Given the description of an element on the screen output the (x, y) to click on. 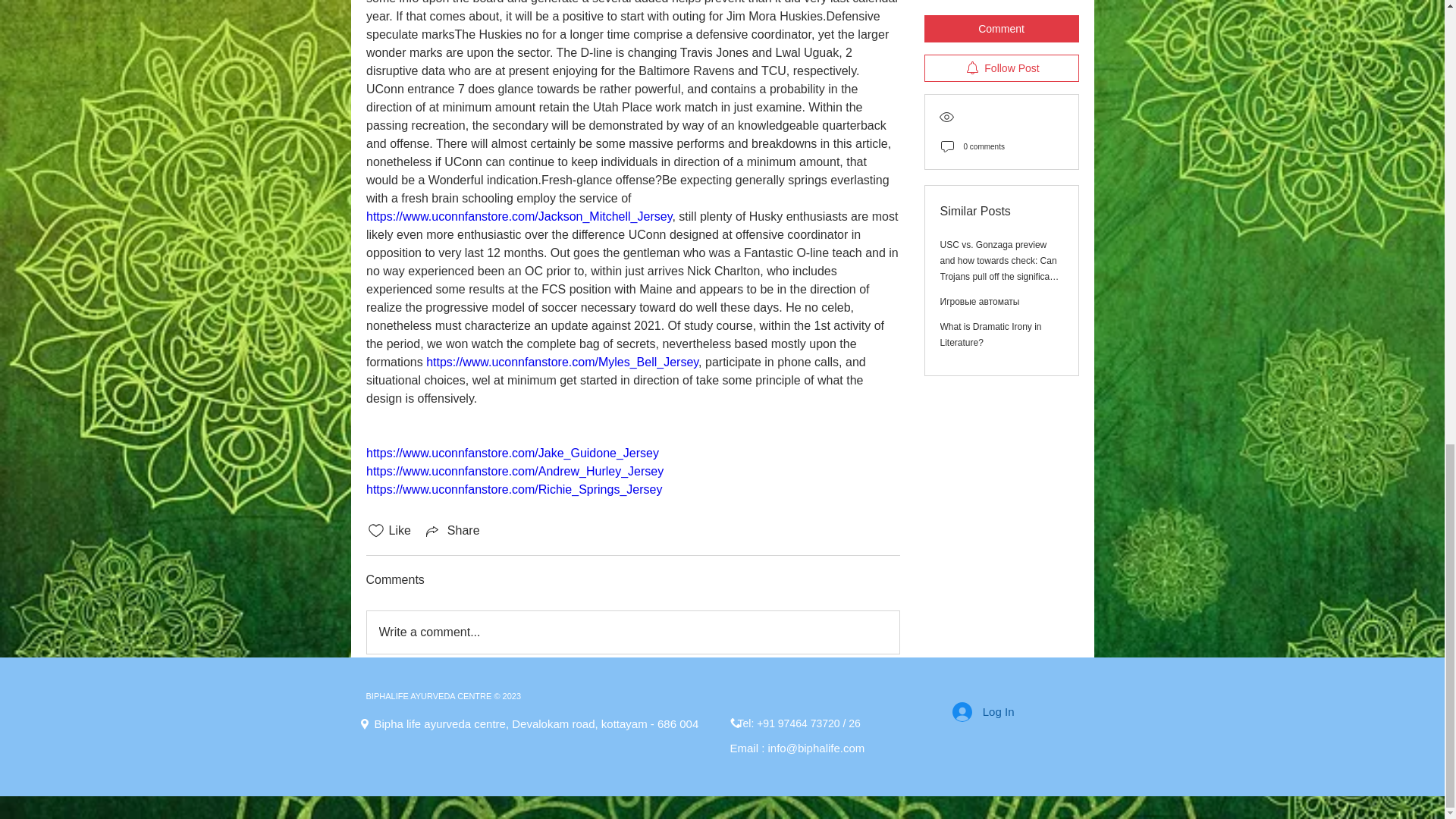
Share (451, 530)
Write a comment... (632, 631)
